Given the description of an element on the screen output the (x, y) to click on. 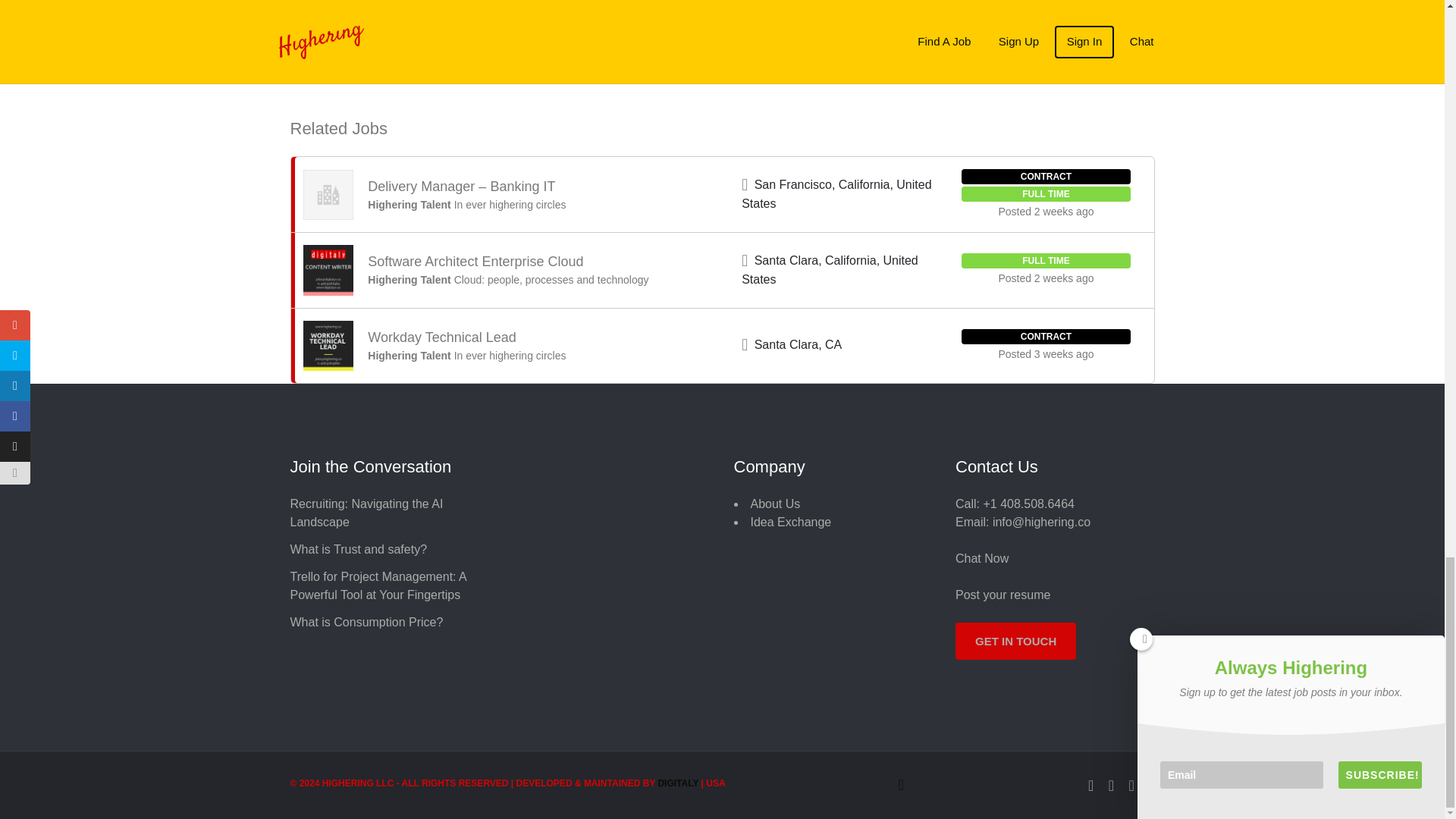
San Francisco, California, United States (836, 193)
What is Trust and safety? (357, 549)
Santa Clara, CA (798, 344)
About Us (775, 503)
About Us (775, 503)
Idea Exchange (791, 521)
Recruiting: Navigating the AI Landscape (365, 512)
Idea Exchange (791, 521)
DIGITALY (678, 783)
Post your resume (1002, 594)
LinkedIn (1131, 784)
What is Consumption Price? (365, 621)
Santa Clara, California, United States (829, 269)
GET IN TOUCH (1015, 641)
